Given the description of an element on the screen output the (x, y) to click on. 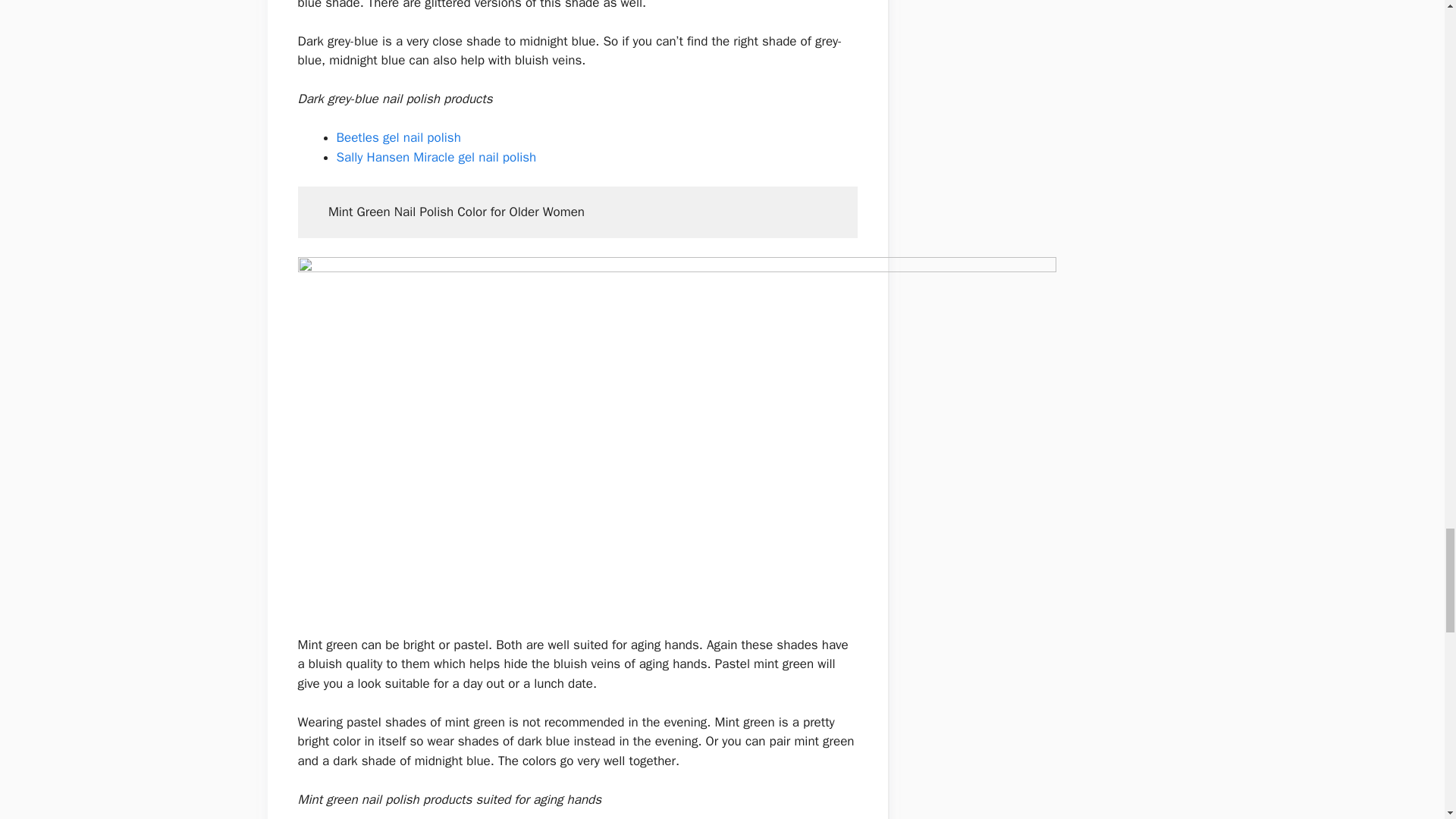
Beetles gel nail polish (398, 137)
Sally Hansen Miracle gel nail polish (436, 157)
